Given the description of an element on the screen output the (x, y) to click on. 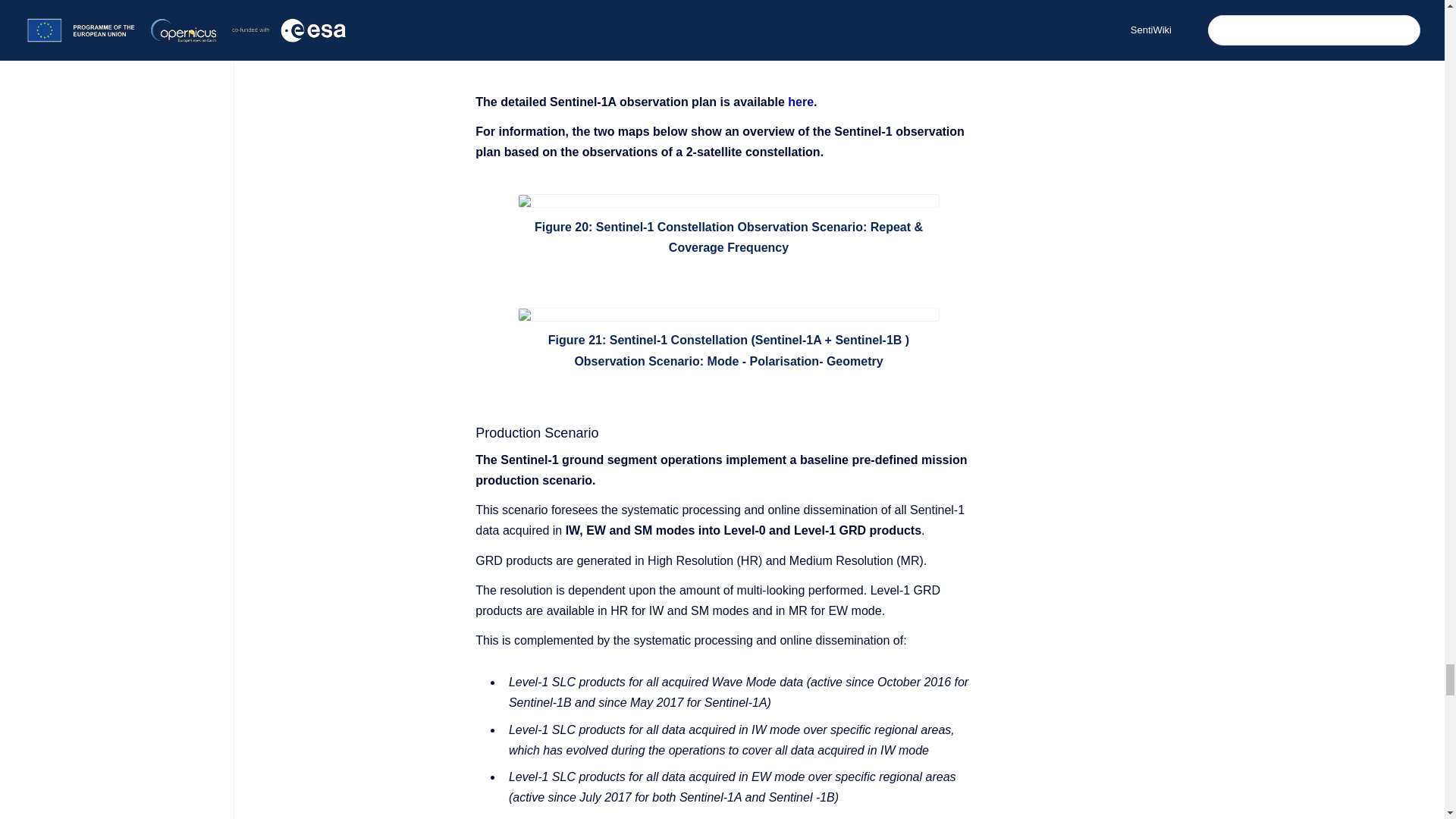
here (800, 101)
